Given the description of an element on the screen output the (x, y) to click on. 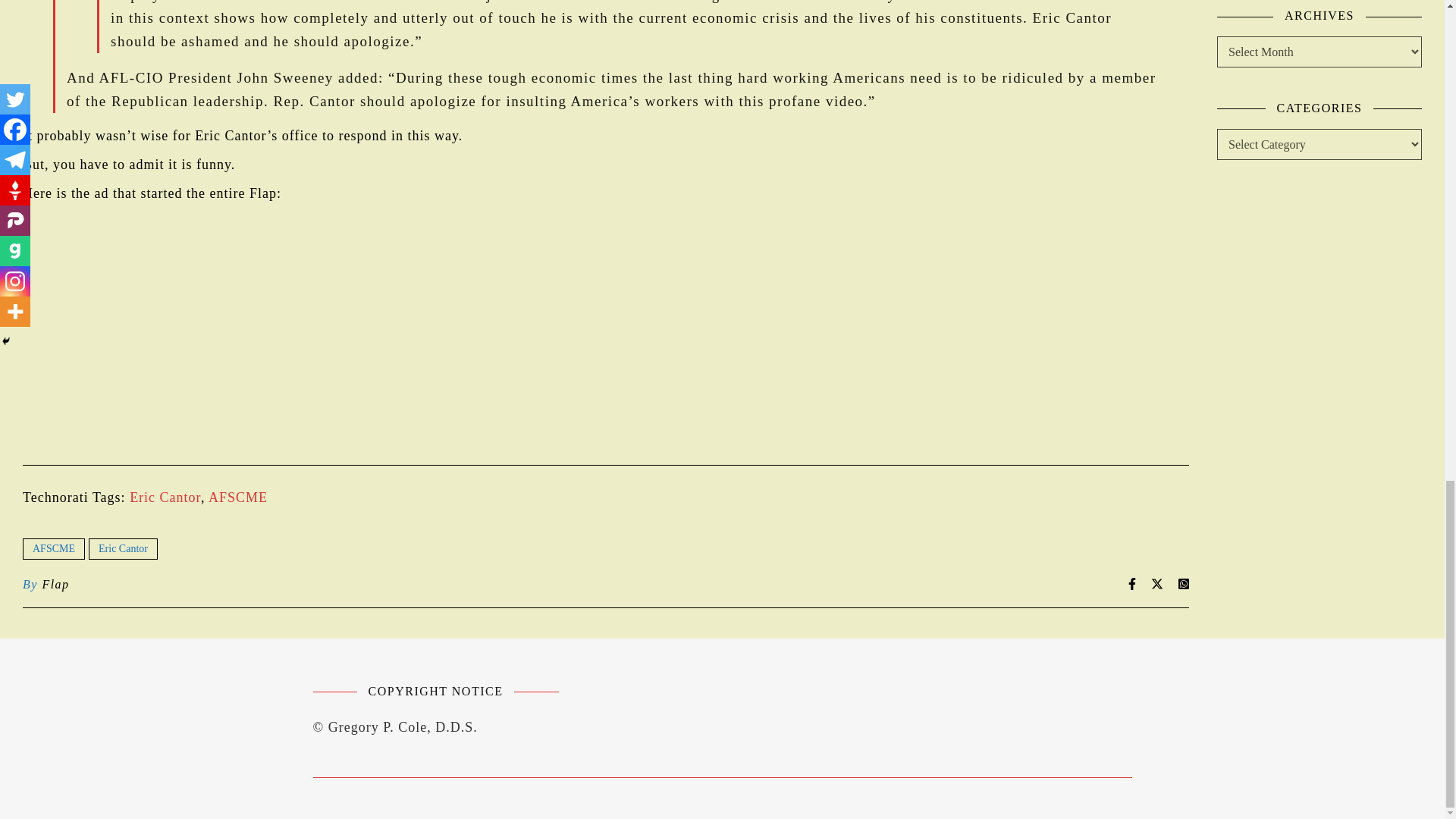
Eric Cantor (164, 497)
Eric Cantor (122, 548)
AFSCME (237, 497)
Posts by Flap (55, 584)
AFSCME (53, 548)
Flap (55, 584)
